Given the description of an element on the screen output the (x, y) to click on. 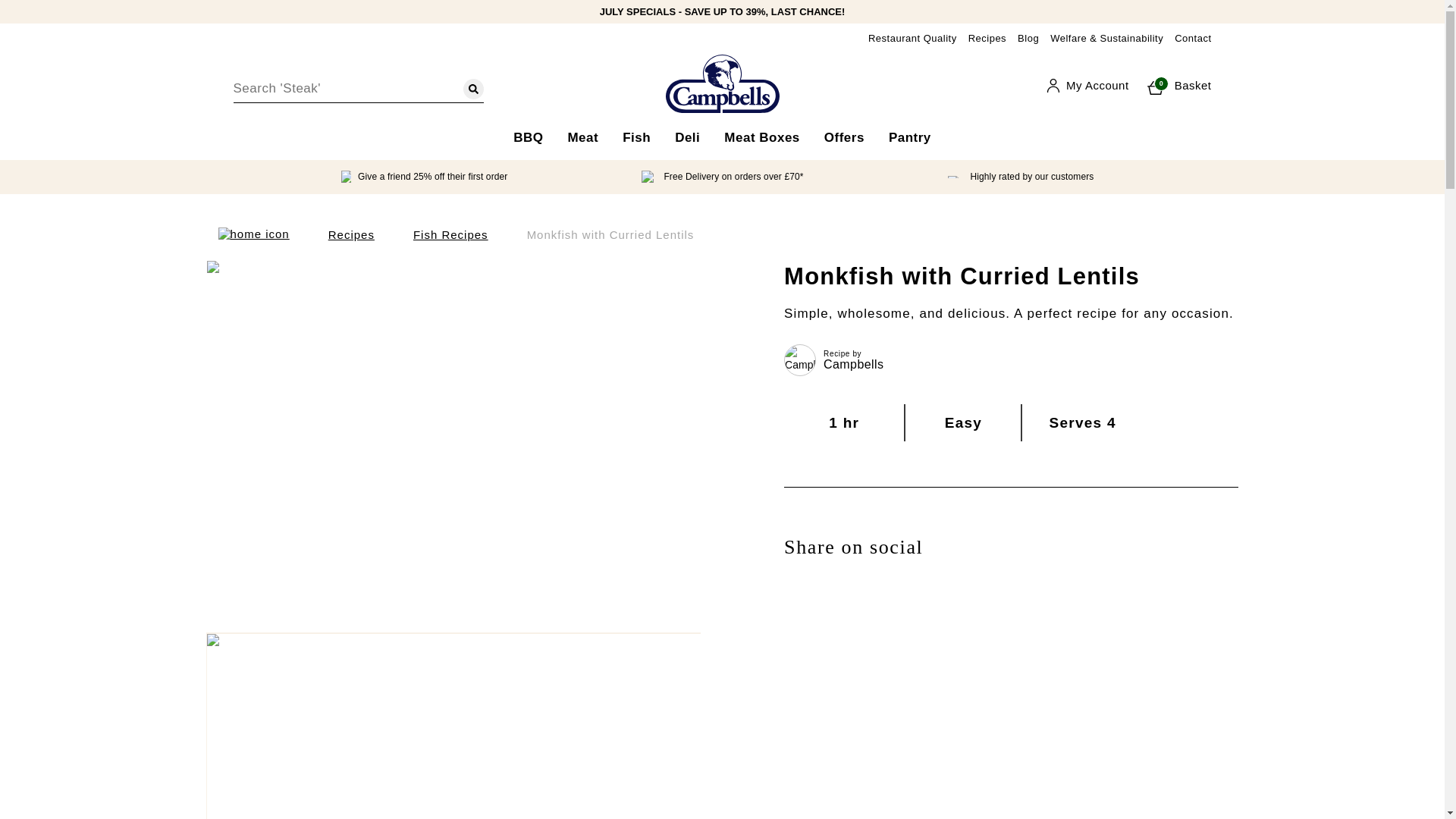
User (1087, 85)
Search (473, 88)
Recipes (987, 38)
Basket (1174, 85)
Restaurant Quality (911, 38)
Blog (1028, 38)
My Account (1174, 85)
Meat (1087, 85)
BBQ (582, 140)
Contact (527, 140)
